Given the description of an element on the screen output the (x, y) to click on. 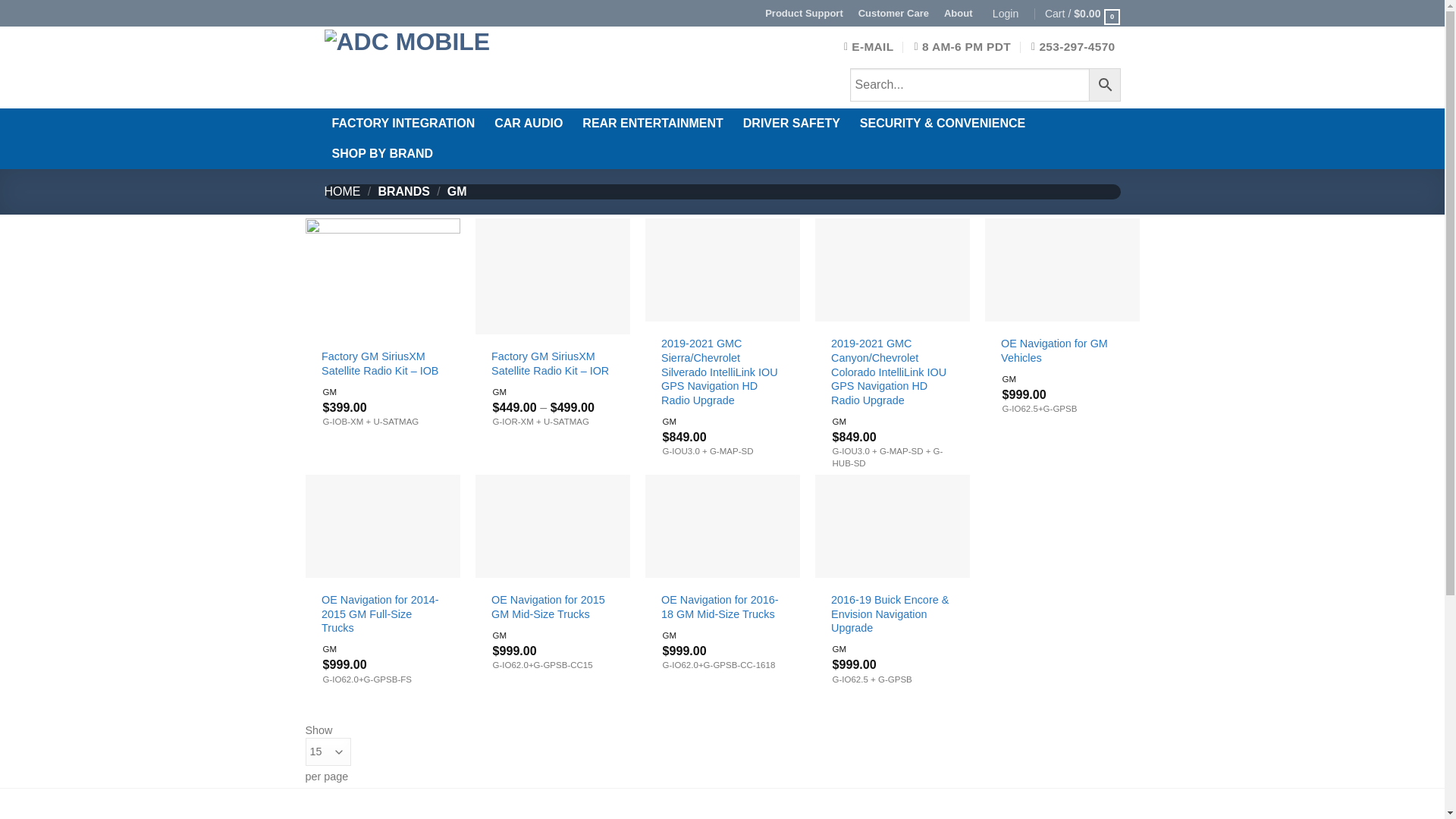
Product Support (803, 13)
Cart (1083, 12)
FACTORY INTEGRATION (403, 123)
253-297-4570 (1072, 47)
253-297-4570 (1072, 47)
ADC Mobile (533, 67)
8 AM-6 PM PDT (962, 47)
Customer Care (893, 13)
E-MAIL (868, 47)
About (957, 13)
Login (1008, 12)
Login (1008, 12)
8 AM-6 PM PDT  (962, 47)
